Given the description of an element on the screen output the (x, y) to click on. 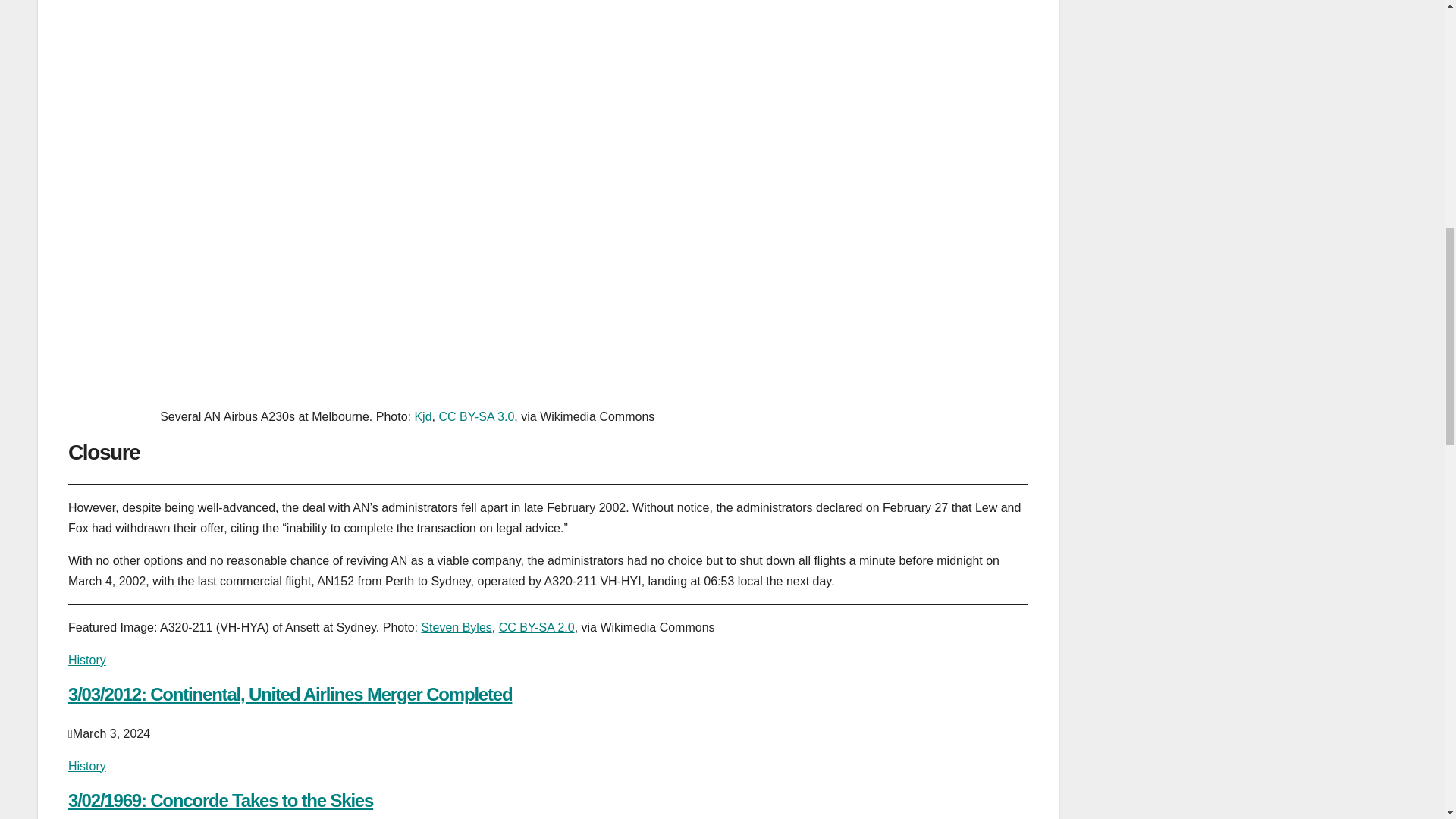
History (87, 766)
History (87, 659)
CC BY-SA 3.0 (475, 416)
CC BY-SA 2.0 (537, 626)
Kjd (421, 416)
Steven Byles (456, 626)
